Given the description of an element on the screen output the (x, y) to click on. 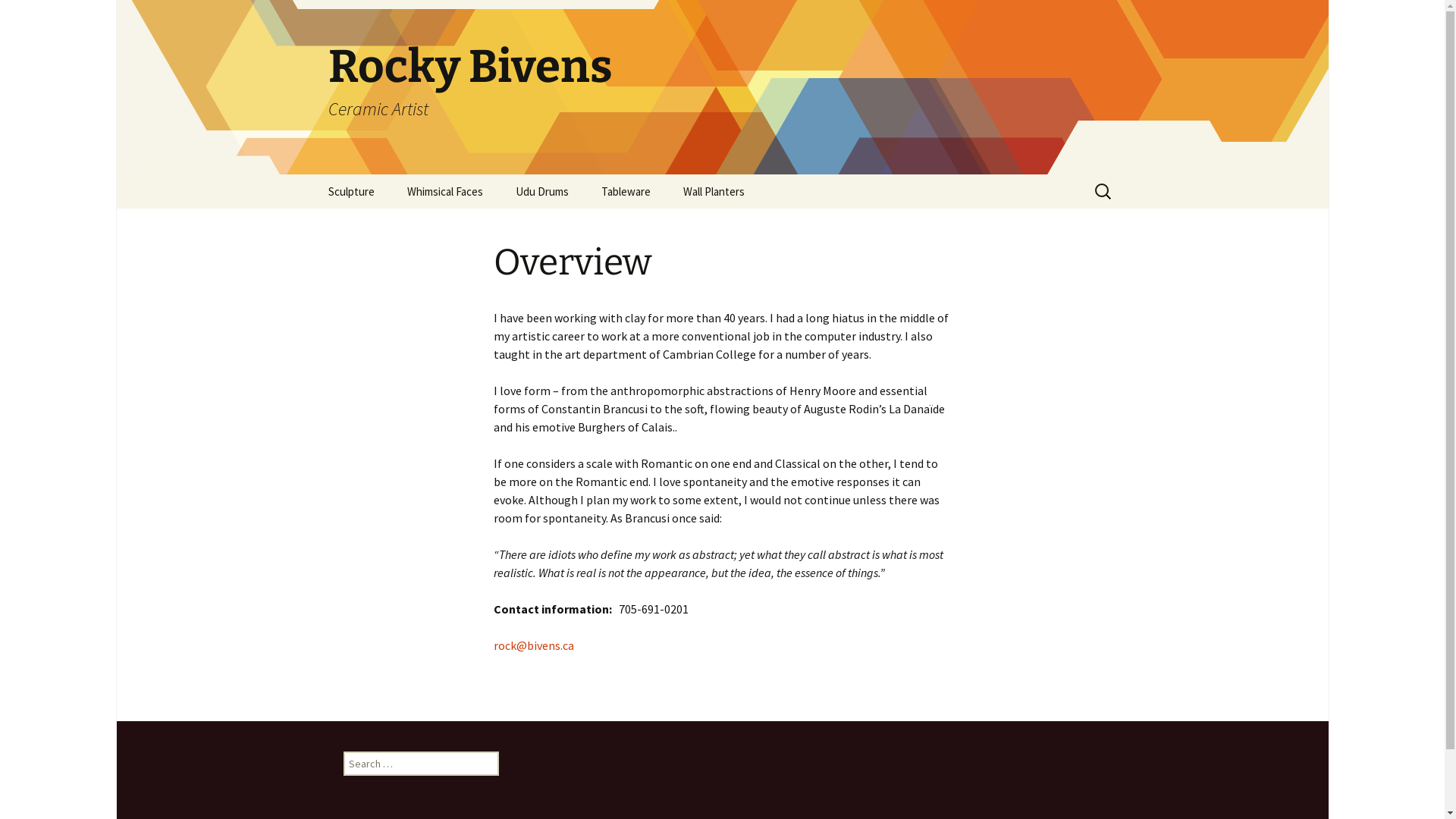
Wall Planters Element type: text (713, 191)
Whimsical Faces Element type: text (444, 191)
Udu Drums Element type: text (541, 191)
Search Element type: text (18, 16)
Skip to content Element type: text (312, 173)
Tableware Element type: text (625, 191)
Sculpture Element type: text (350, 191)
Search Element type: text (34, 15)
Rocky Bivens
Ceramic Artist Element type: text (721, 87)
rock@bivens.ca Element type: text (532, 644)
